Given the description of an element on the screen output the (x, y) to click on. 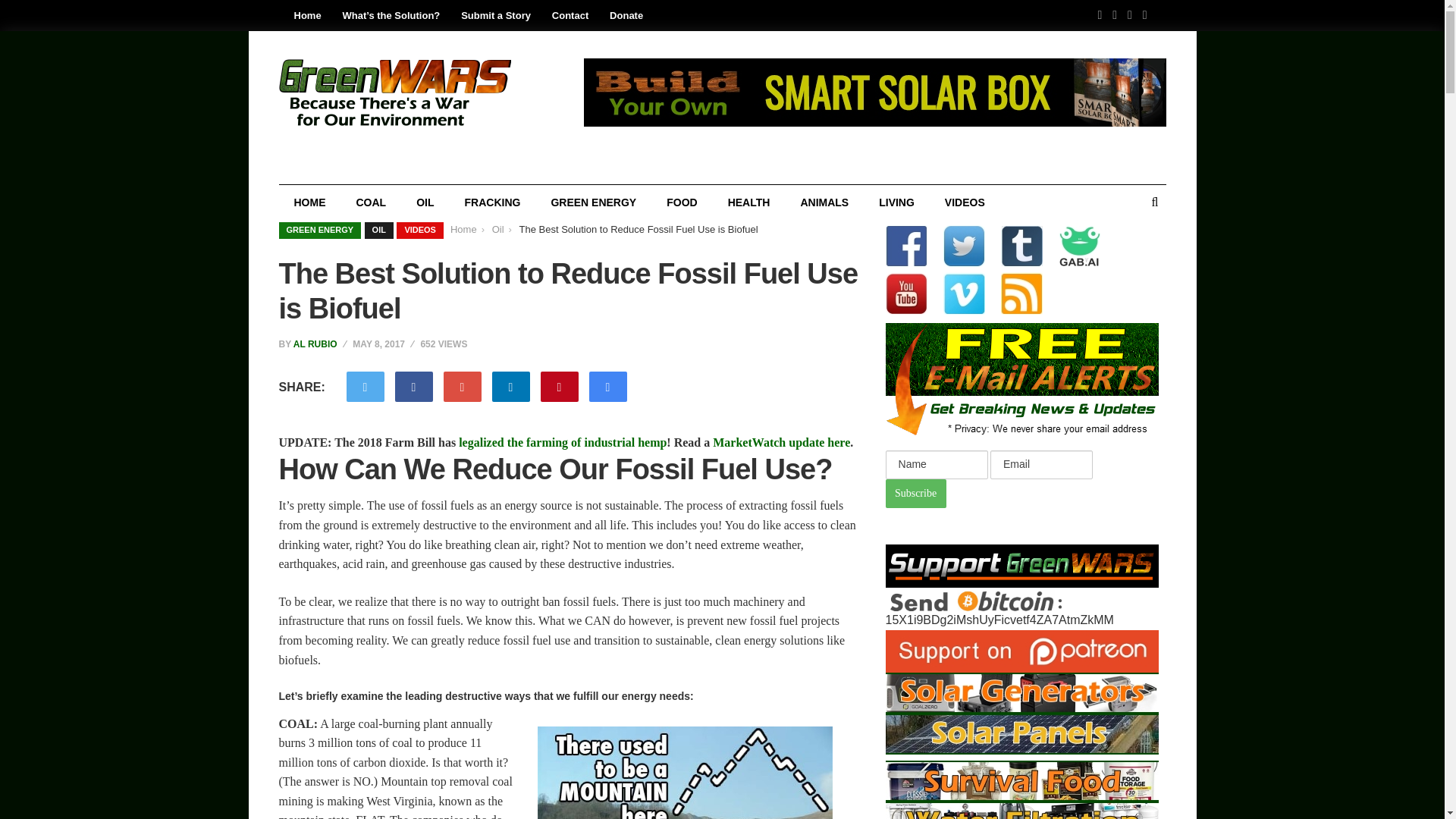
Submit a Story (496, 15)
Subscribe (915, 493)
Contact (569, 15)
Donate (626, 15)
